Given the description of an element on the screen output the (x, y) to click on. 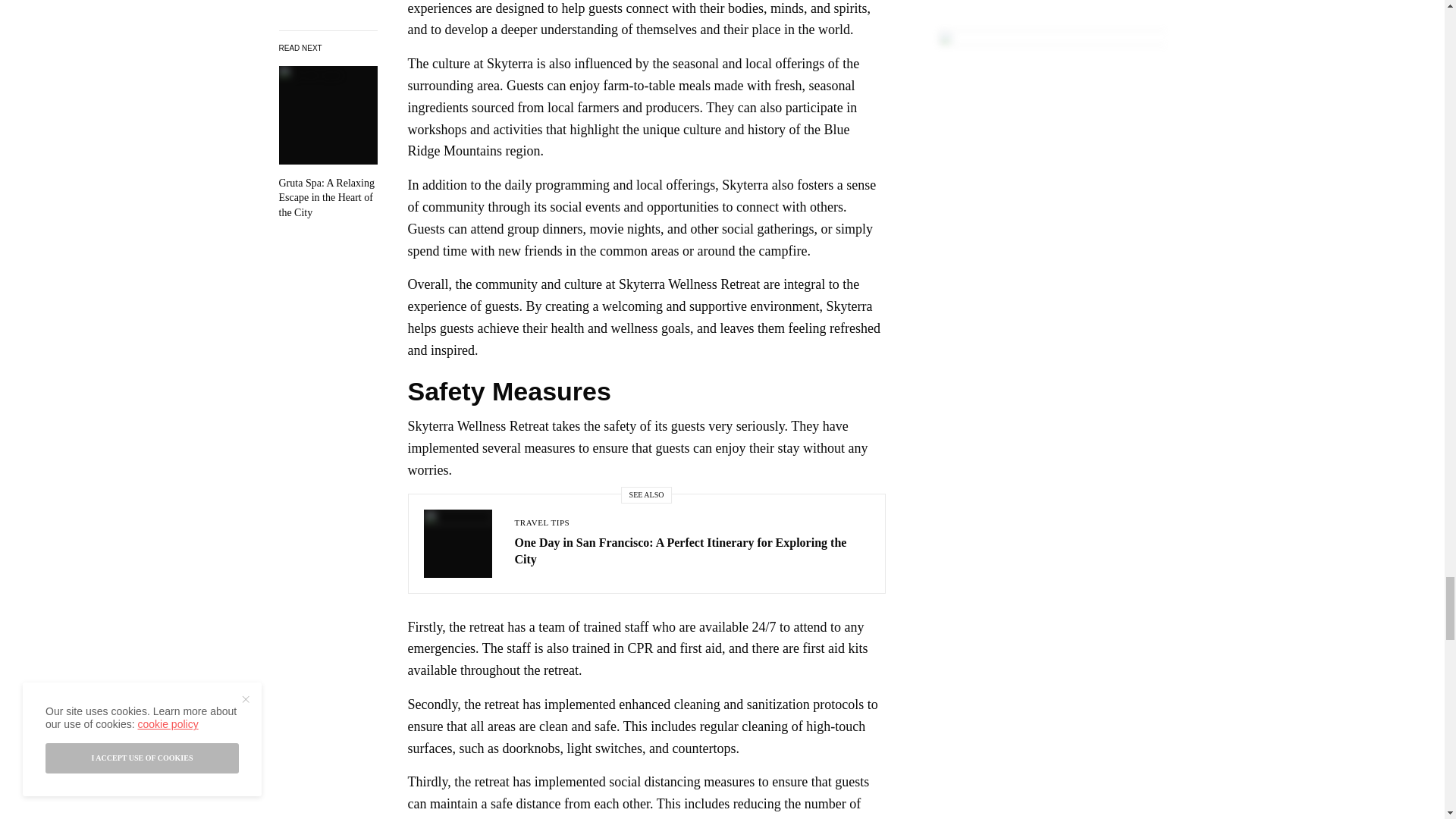
TRAVEL TIPS (541, 522)
